Given the description of an element on the screen output the (x, y) to click on. 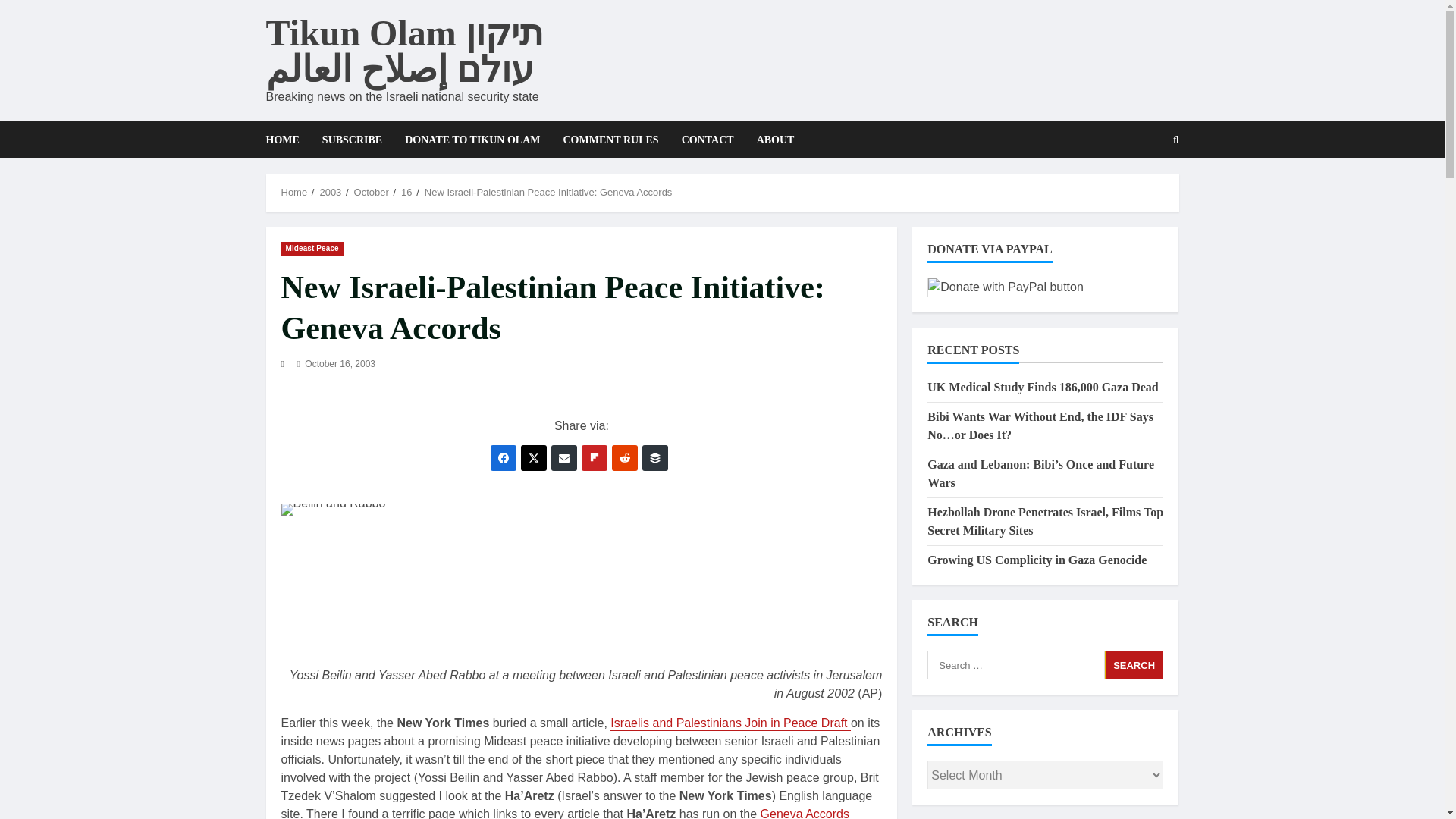
2003 (329, 192)
Search (1139, 191)
Mideast Peace (311, 247)
Home (294, 192)
SUBSCRIBE (352, 139)
COMMENT RULES (610, 139)
Search (1176, 139)
Search (1134, 664)
PayPal - The safer, easier way to pay online! (1005, 287)
October (370, 192)
New Israeli-Palestinian Peace Initiative: Geneva Accords (548, 192)
Israelis and Palestinians Join in Peace Draft (730, 723)
CONTACT (707, 139)
Ha'aretz 'Geneva Accords Articles (564, 813)
HOME (287, 139)
